Given the description of an element on the screen output the (x, y) to click on. 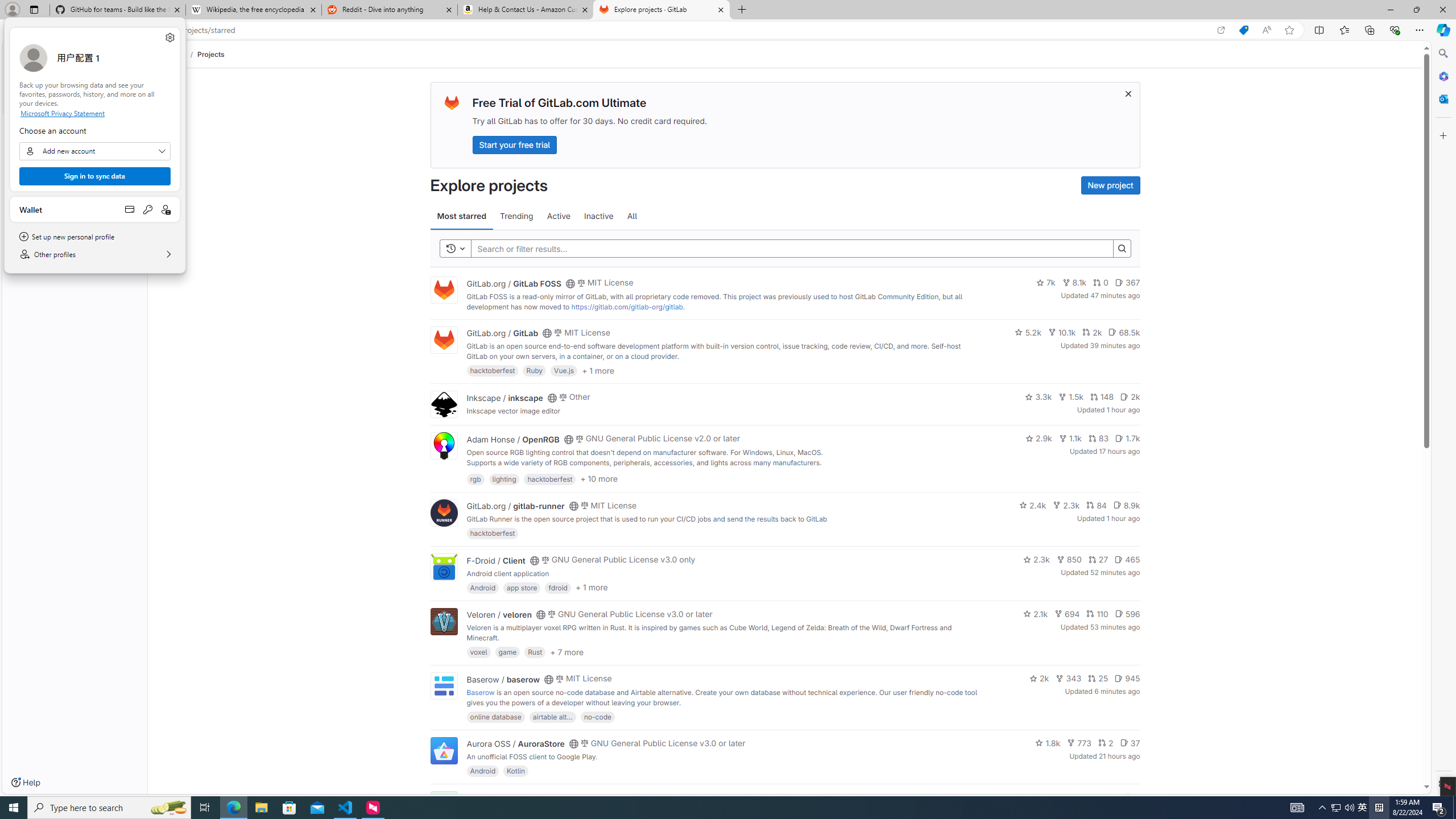
1.4k (1054, 797)
2 (1105, 742)
Inactive (598, 216)
fdroid (558, 587)
+ 10 more (599, 478)
Baserow / baserow (502, 678)
All (632, 216)
Class: project (443, 750)
